Given the description of an element on the screen output the (x, y) to click on. 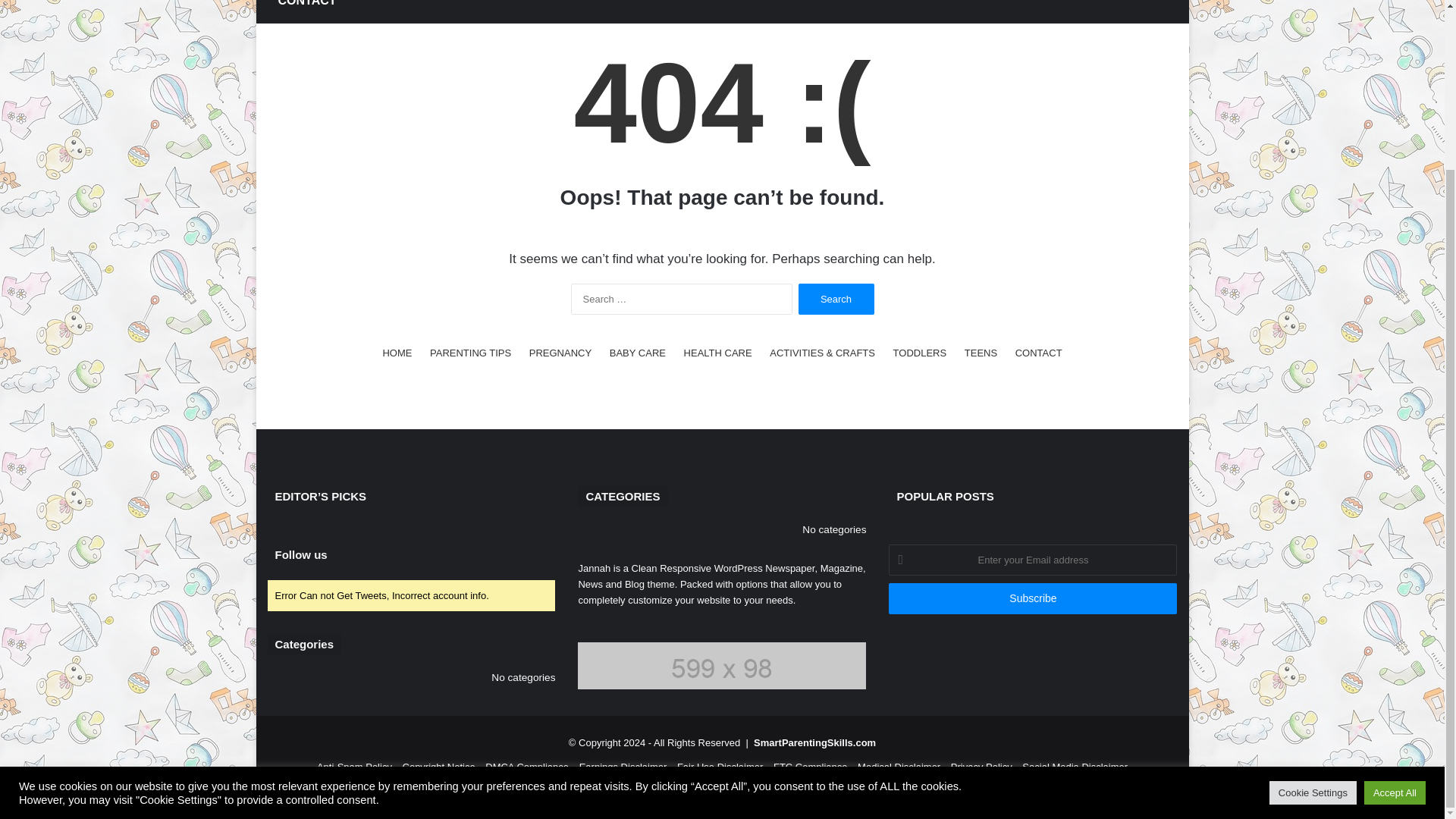
CONTACT (1038, 352)
Search (835, 298)
Subscribe (1032, 598)
Medical Disclaimer (898, 767)
PARENTING TIPS (470, 352)
HEALTH CARE (718, 352)
Cookie Settings (1312, 588)
PREGNANCY (560, 352)
Terms and Conditions (722, 790)
Copyright Notice (439, 767)
Anti-Spam Policy (354, 767)
TEENS (980, 352)
BABY CARE (637, 352)
Follow us (300, 554)
Subscribe (1032, 598)
